Given the description of an element on the screen output the (x, y) to click on. 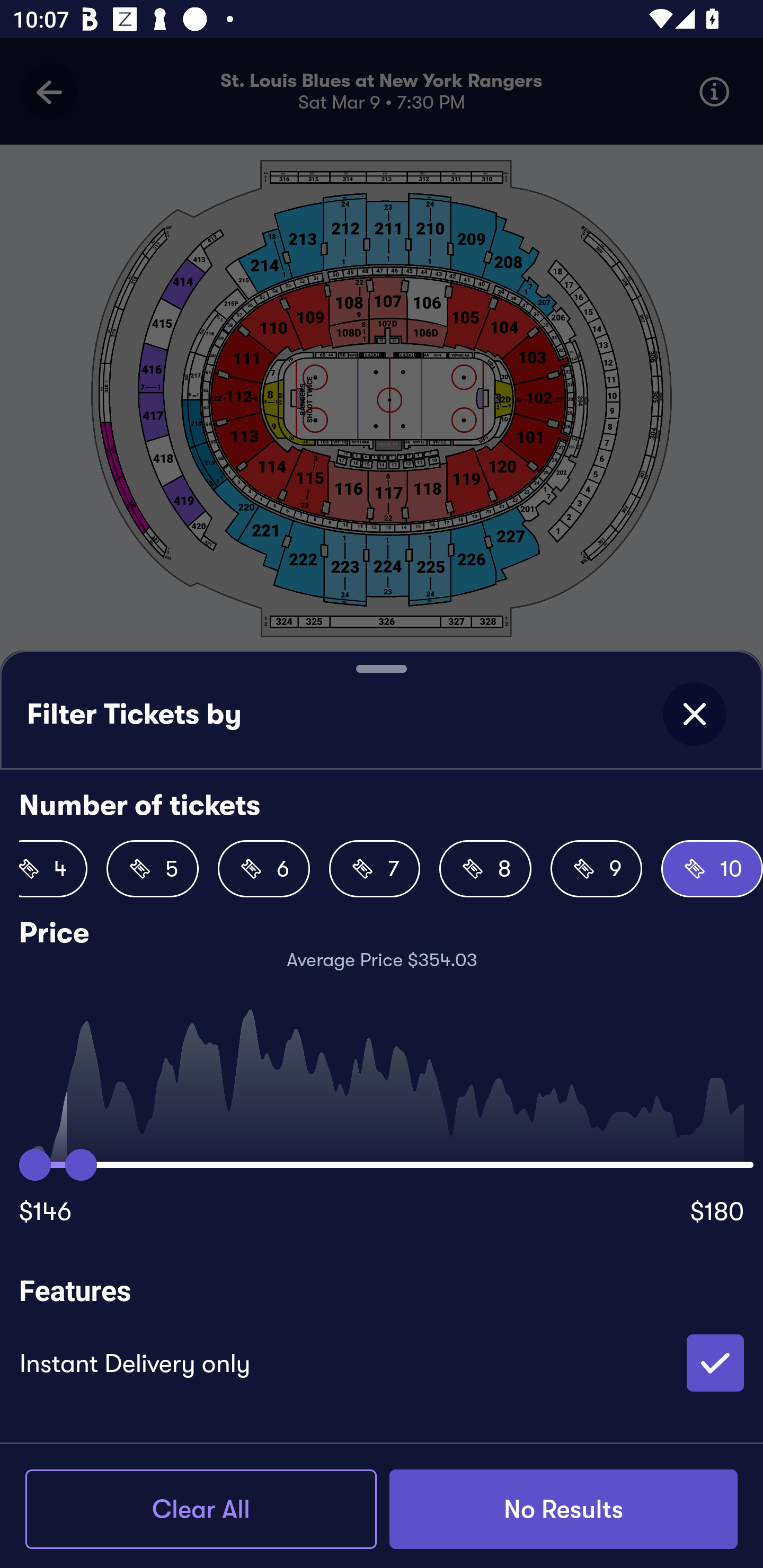
close (694, 714)
4 (53, 868)
5 (152, 868)
6 (263, 868)
7 (374, 868)
8 (485, 868)
9 (596, 868)
10 (712, 868)
Clear All (200, 1509)
No Results (563, 1509)
